Given the description of an element on the screen output the (x, y) to click on. 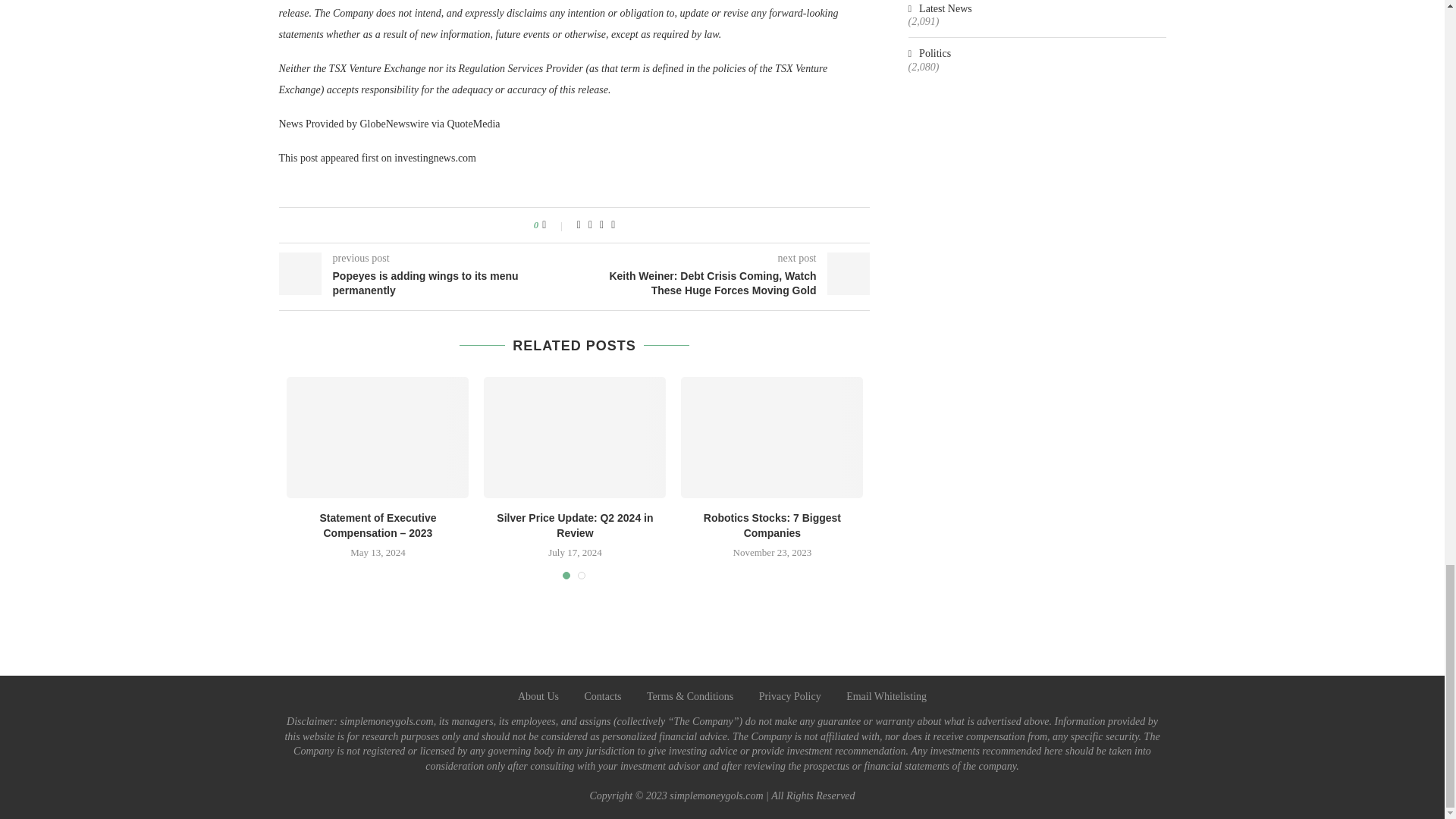
Silver Price Update: Q2 2024 in Review (574, 524)
Robotics Stocks: 7 Biggest Companies (772, 436)
Silver Price Update: Q2 2024 in Review (574, 436)
Robotics Stocks: 7 Biggest Companies (772, 524)
Popeyes is adding wings to its menu permanently (427, 283)
Like (553, 224)
